Given the description of an element on the screen output the (x, y) to click on. 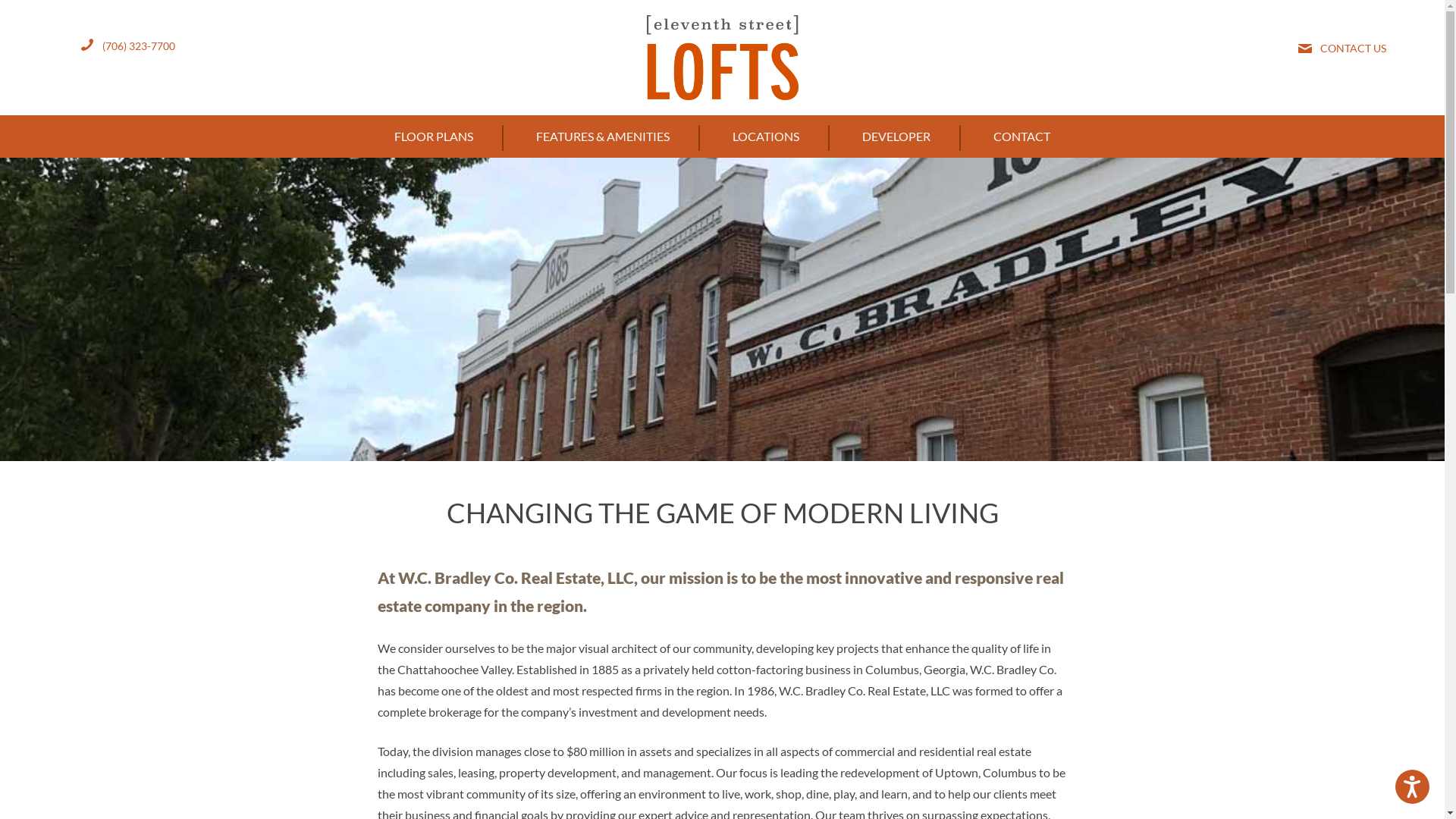
FLOOR PLANS Element type: text (433, 136)
DEVELOPER Element type: text (895, 136)
CONTACT US Element type: text (1353, 48)
CONTACT Element type: text (1021, 136)
LOCATIONS Element type: text (765, 136)
(706) 323-7700 Element type: text (138, 45)
FEATURES & AMENITIES Element type: text (602, 136)
